Given the description of an element on the screen output the (x, y) to click on. 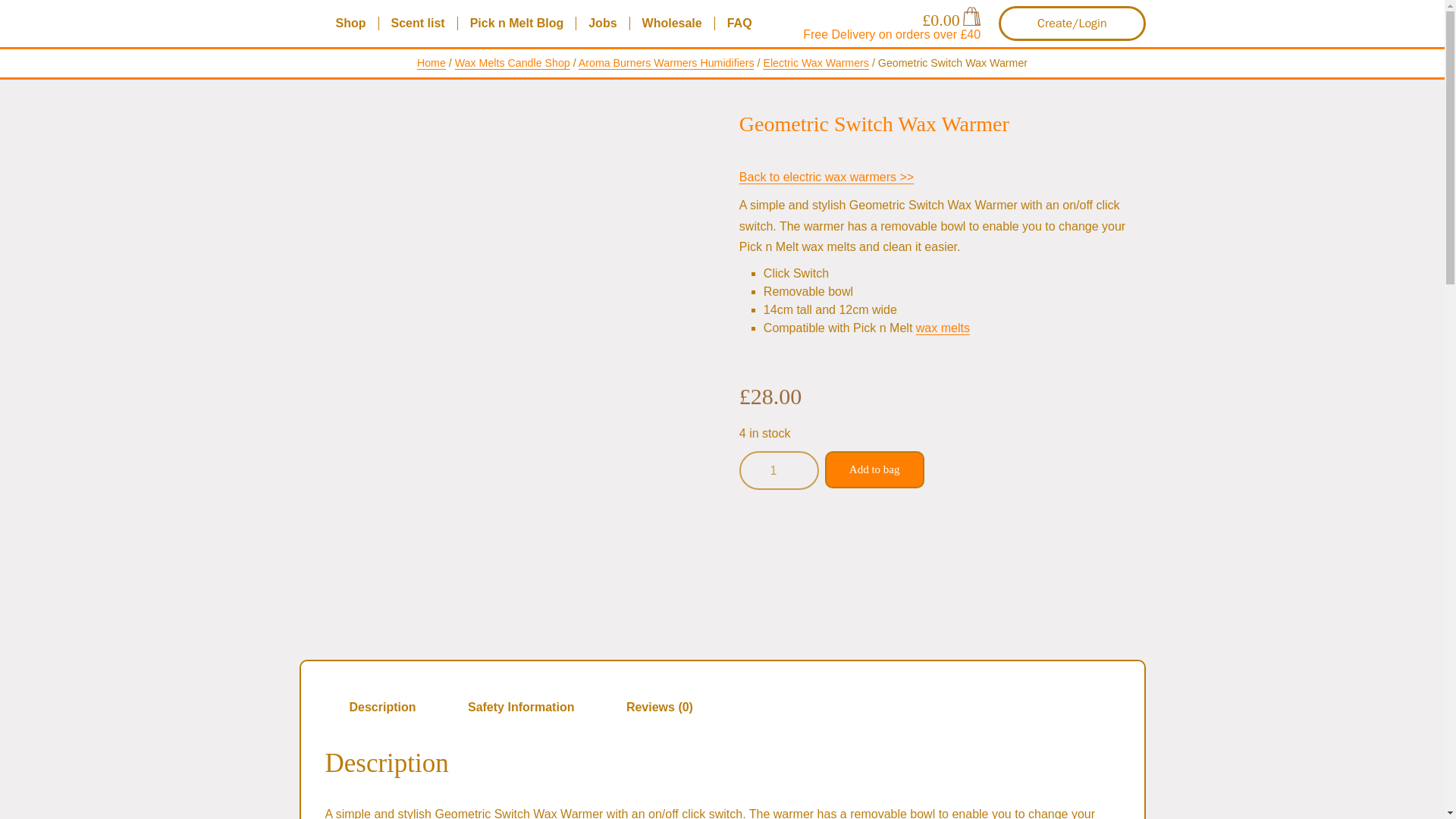
Scent list (418, 23)
Description (381, 707)
Add to bag (874, 469)
Home (430, 62)
Electric Wax Warmers (815, 62)
wax melts (942, 327)
FAQ (739, 23)
Shop (349, 23)
Aroma Burners Warmers Humidifiers (666, 62)
Jobs (601, 23)
Pick n Melt Blog (517, 23)
Wholesale (671, 23)
Wax Melts Candle Shop (512, 62)
Safety Information (521, 707)
1 (778, 470)
